Given the description of an element on the screen output the (x, y) to click on. 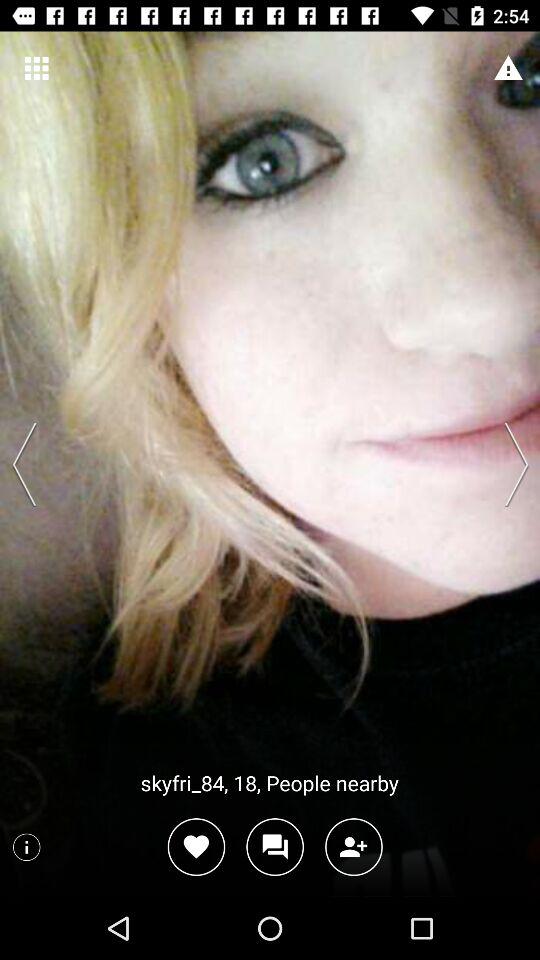
more information (26, 847)
